Given the description of an element on the screen output the (x, y) to click on. 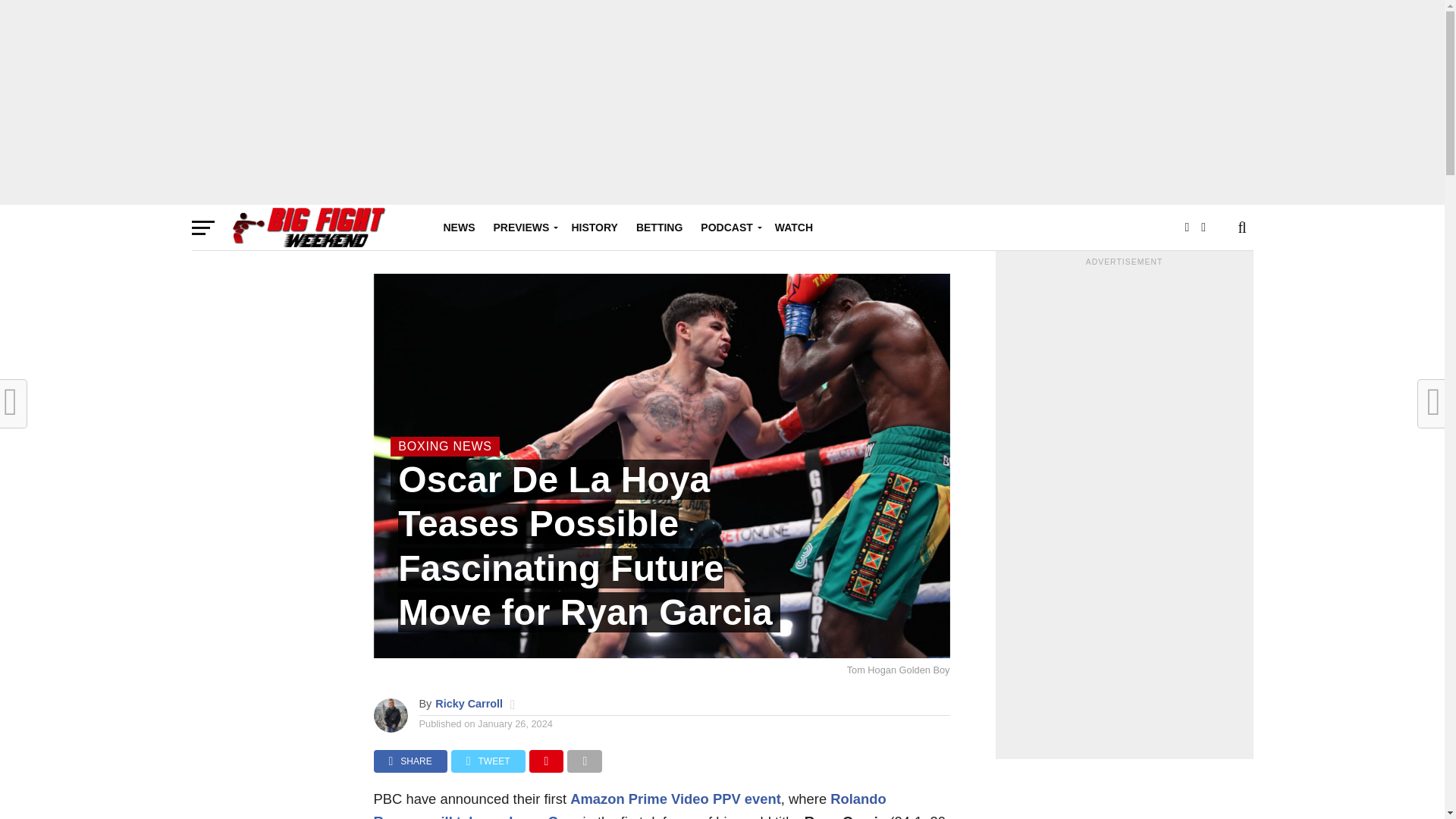
NEWS (458, 227)
Ricky Carroll (468, 703)
Posts by Ricky Carroll (468, 703)
HISTORY (594, 227)
WATCH (793, 227)
PODCAST (728, 227)
PREVIEWS (522, 227)
Amazon Prime Video PPV event (675, 798)
BETTING (659, 227)
Rolando Romero will take on Isaac Cruz (628, 805)
